Given the description of an element on the screen output the (x, y) to click on. 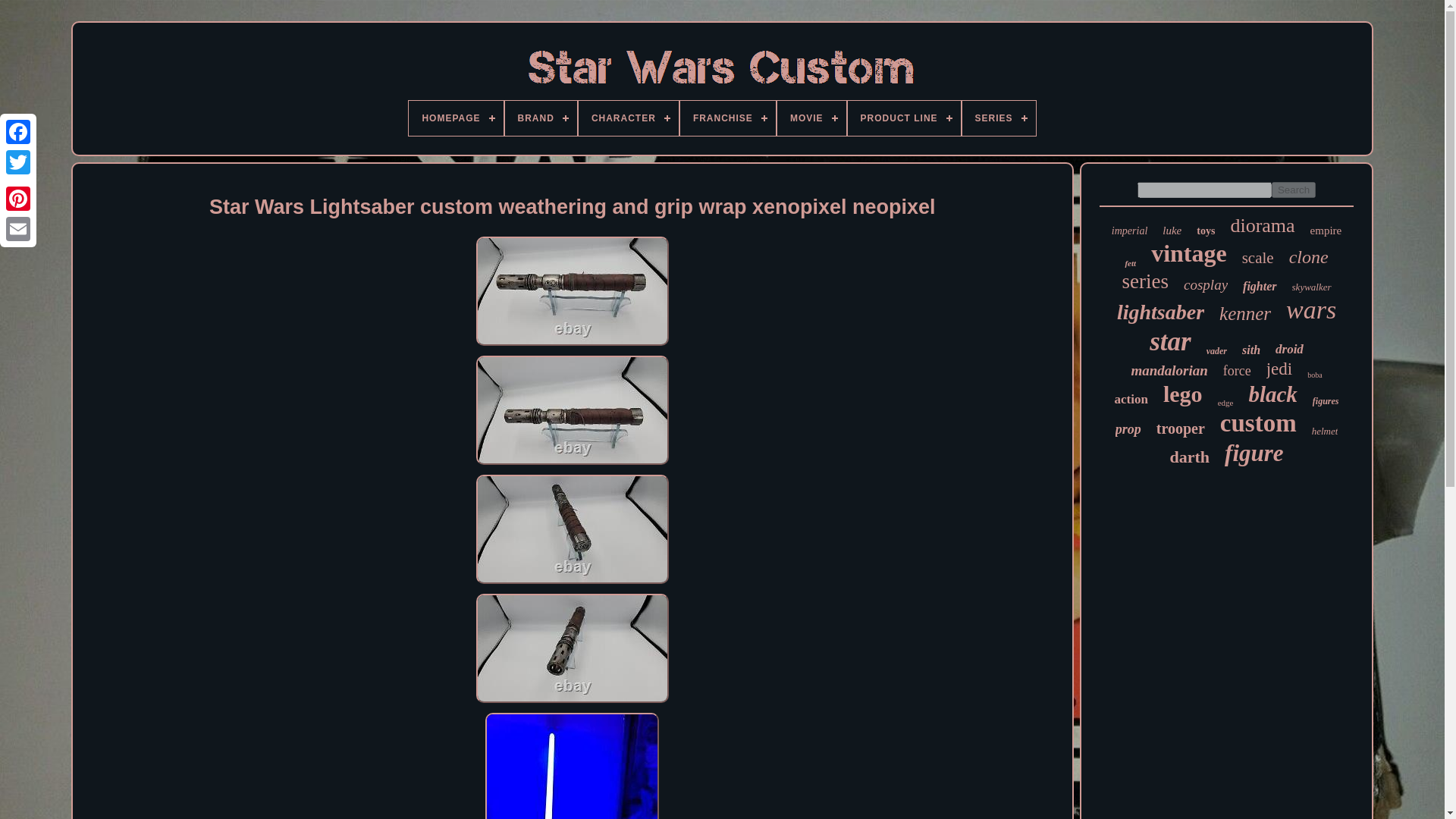
HOMEPAGE (455, 117)
Search (1293, 189)
BRAND (540, 117)
CHARACTER (628, 117)
Facebook (17, 132)
